Given the description of an element on the screen output the (x, y) to click on. 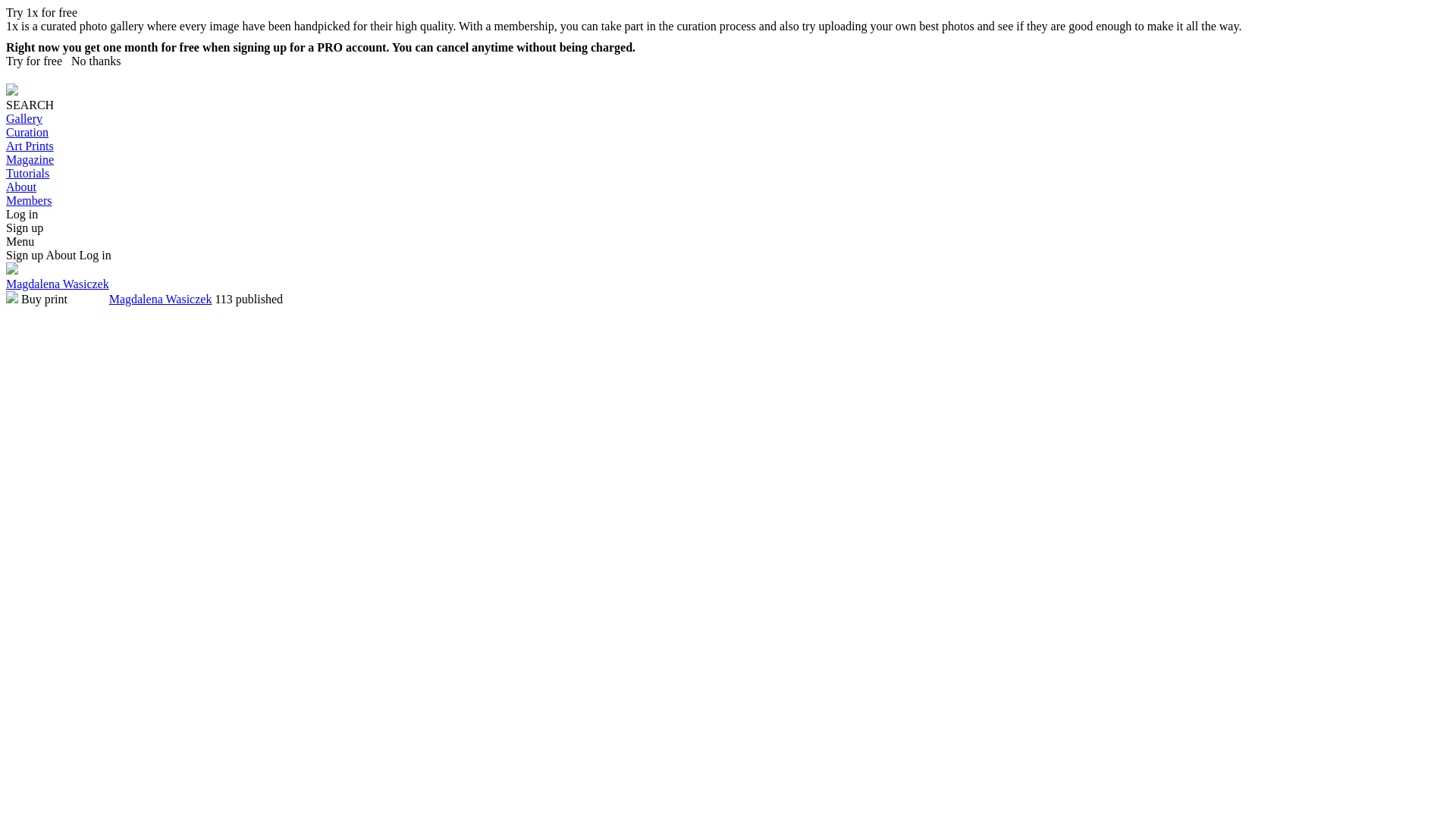
Menu Element type: text (727, 241)
Magdalena Wasiczek Element type: text (57, 283)
No thanks Element type: text (95, 60)
Members Element type: text (28, 200)
Sign up Element type: text (727, 228)
Log in Element type: text (94, 254)
Curation Element type: text (27, 131)
About Element type: text (21, 186)
Sign up Element type: text (25, 254)
Magdalena Wasiczek Element type: text (160, 298)
Tutorials Element type: text (27, 172)
Art Prints Element type: text (29, 145)
About Element type: text (61, 254)
Log in Element type: text (727, 214)
SEARCH Element type: text (727, 105)
Magazine Element type: text (29, 159)
Try for free Element type: text (34, 60)
Gallery Element type: text (24, 118)
